Given the description of an element on the screen output the (x, y) to click on. 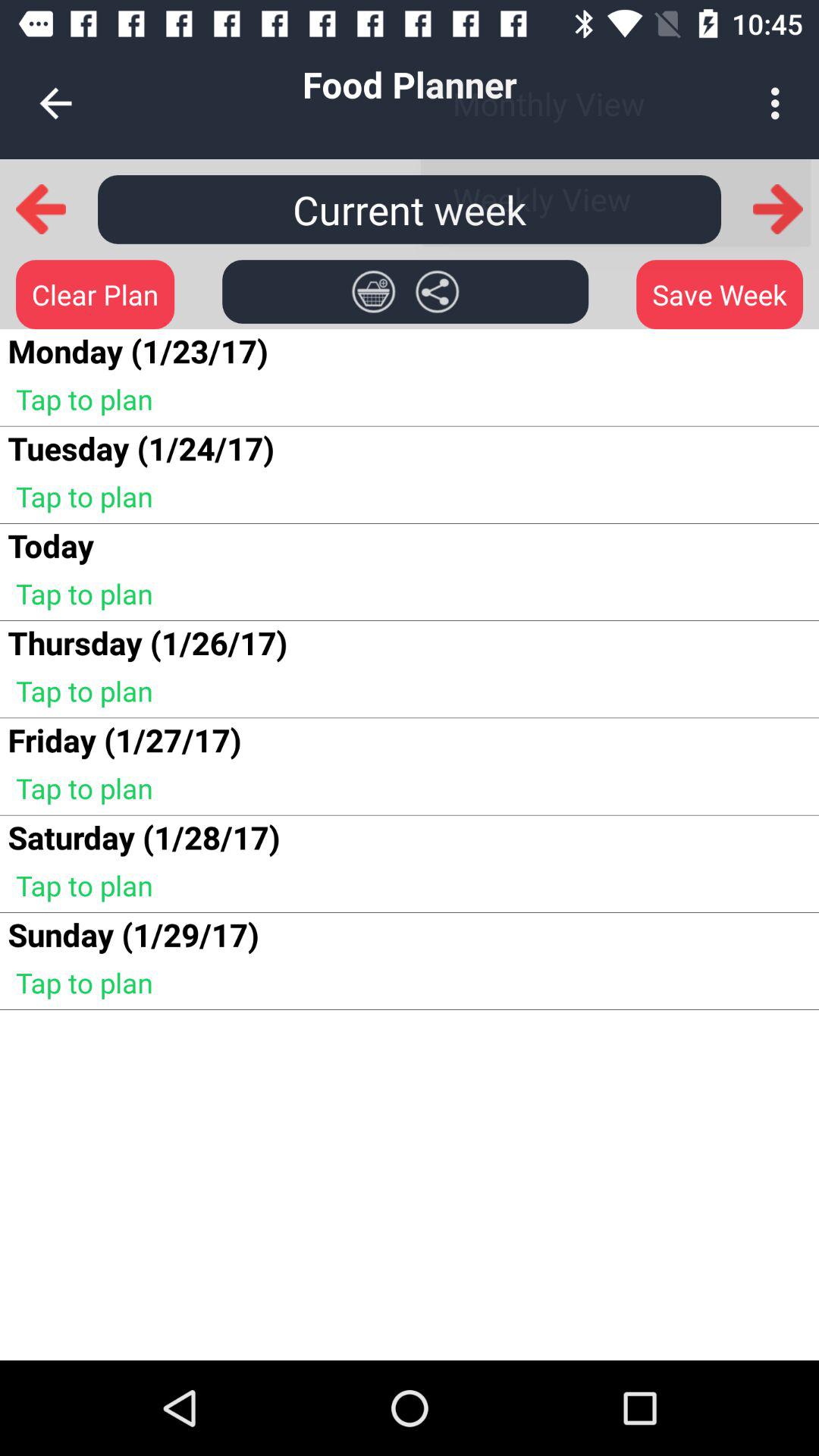
open the icon above tap to plan (50, 545)
